Given the description of an element on the screen output the (x, y) to click on. 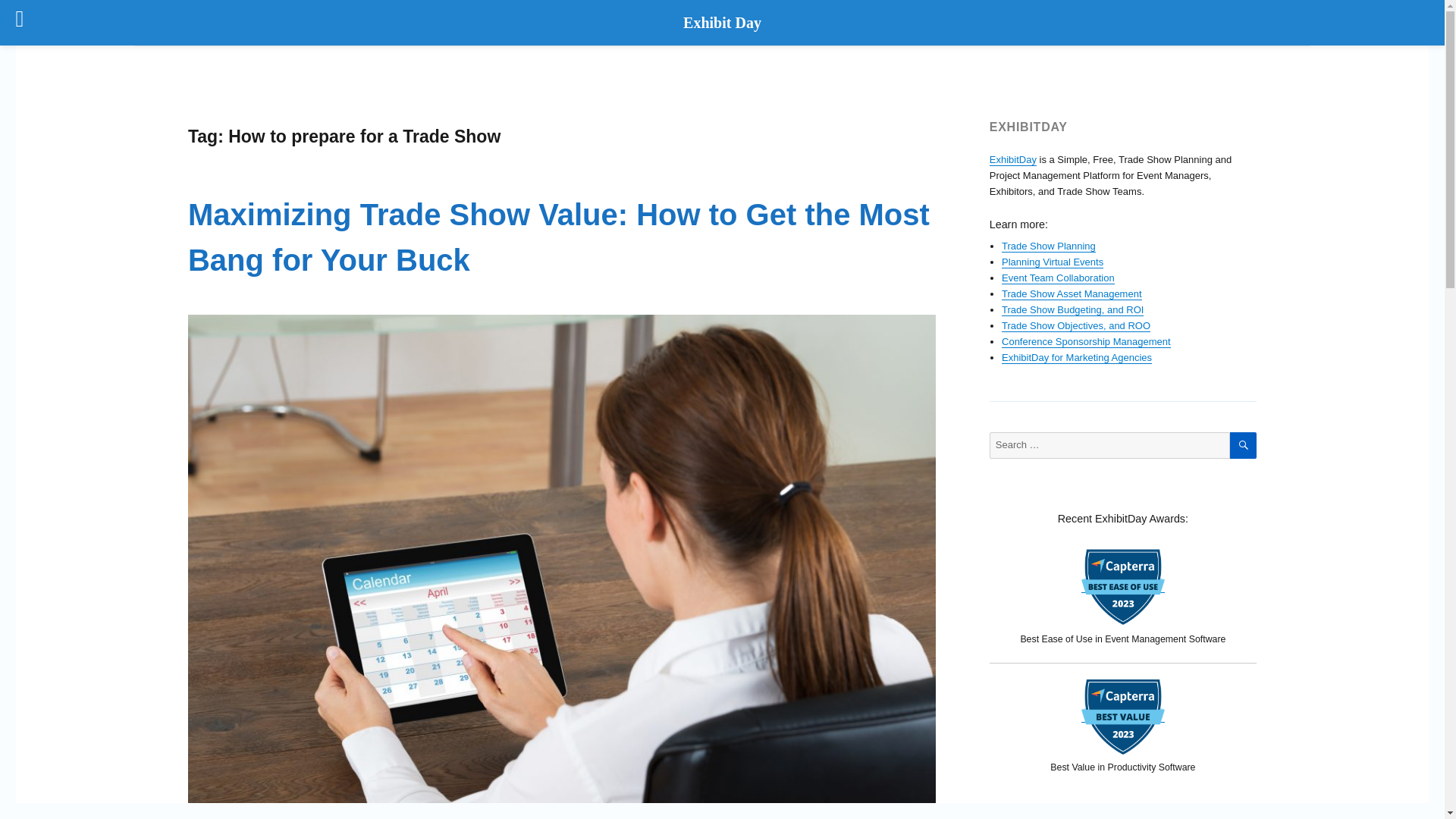
Manage Inventory for your Trade Shows and Exhibits (1071, 293)
Trade Show Objectives, and ROO (1075, 325)
Conference Sponsorship Management (1085, 341)
Planning Virtual Events (1052, 261)
SEARCH (1243, 445)
Trade Show Budgeting, and ROI (1071, 309)
ExhibitDay for Marketing Agencies (1076, 357)
ExhibitDay (1013, 159)
